Given the description of an element on the screen output the (x, y) to click on. 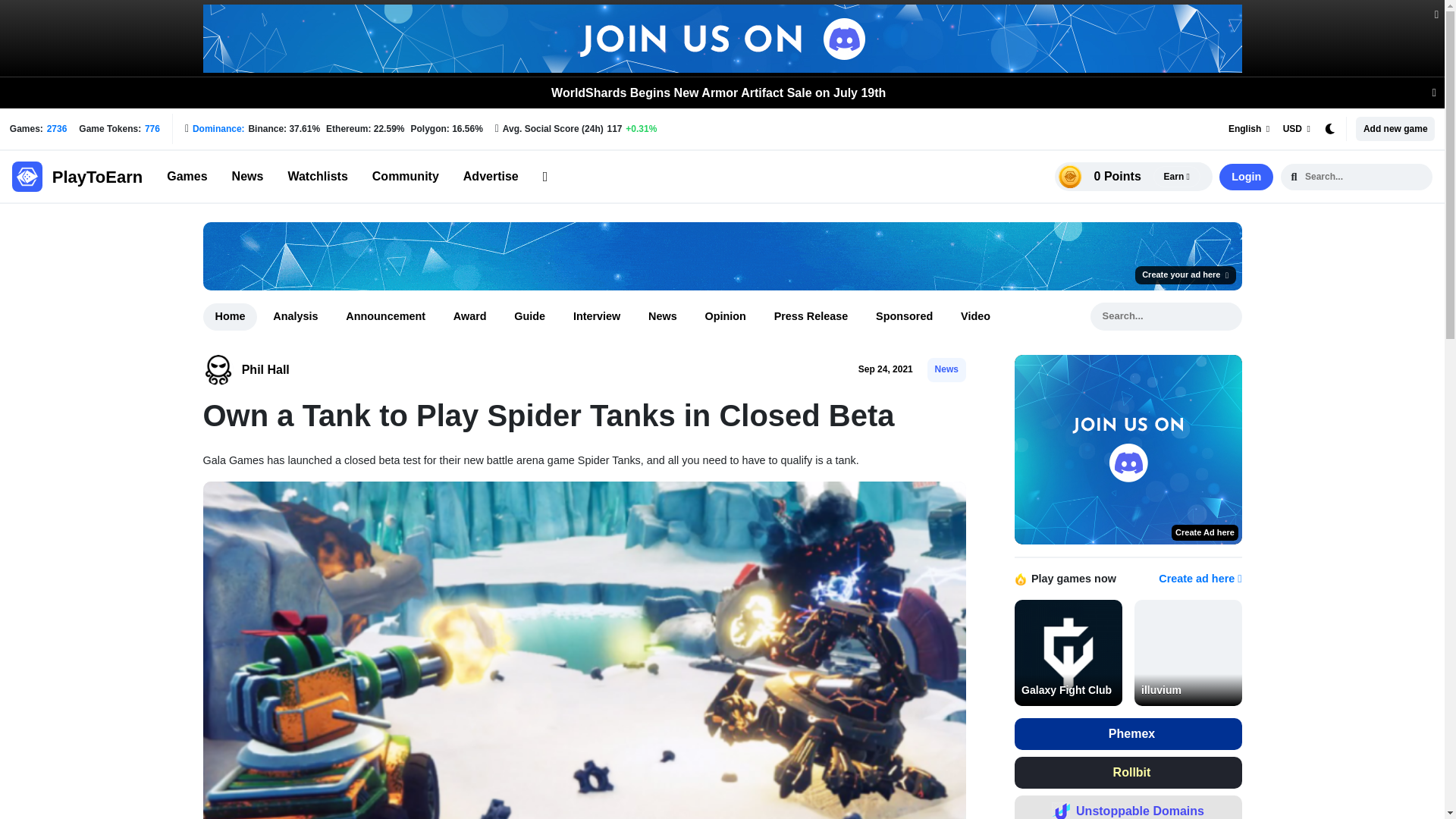
PlayToEarn Community (405, 176)
WorldShards Begins New Armor Artifact Sale on July 19th (718, 93)
Watchlists (316, 176)
Add new Game (1391, 128)
News (247, 176)
Dominance (218, 129)
Tokens: (152, 129)
PlayToEarn (76, 176)
Games: (56, 129)
